Given the description of an element on the screen output the (x, y) to click on. 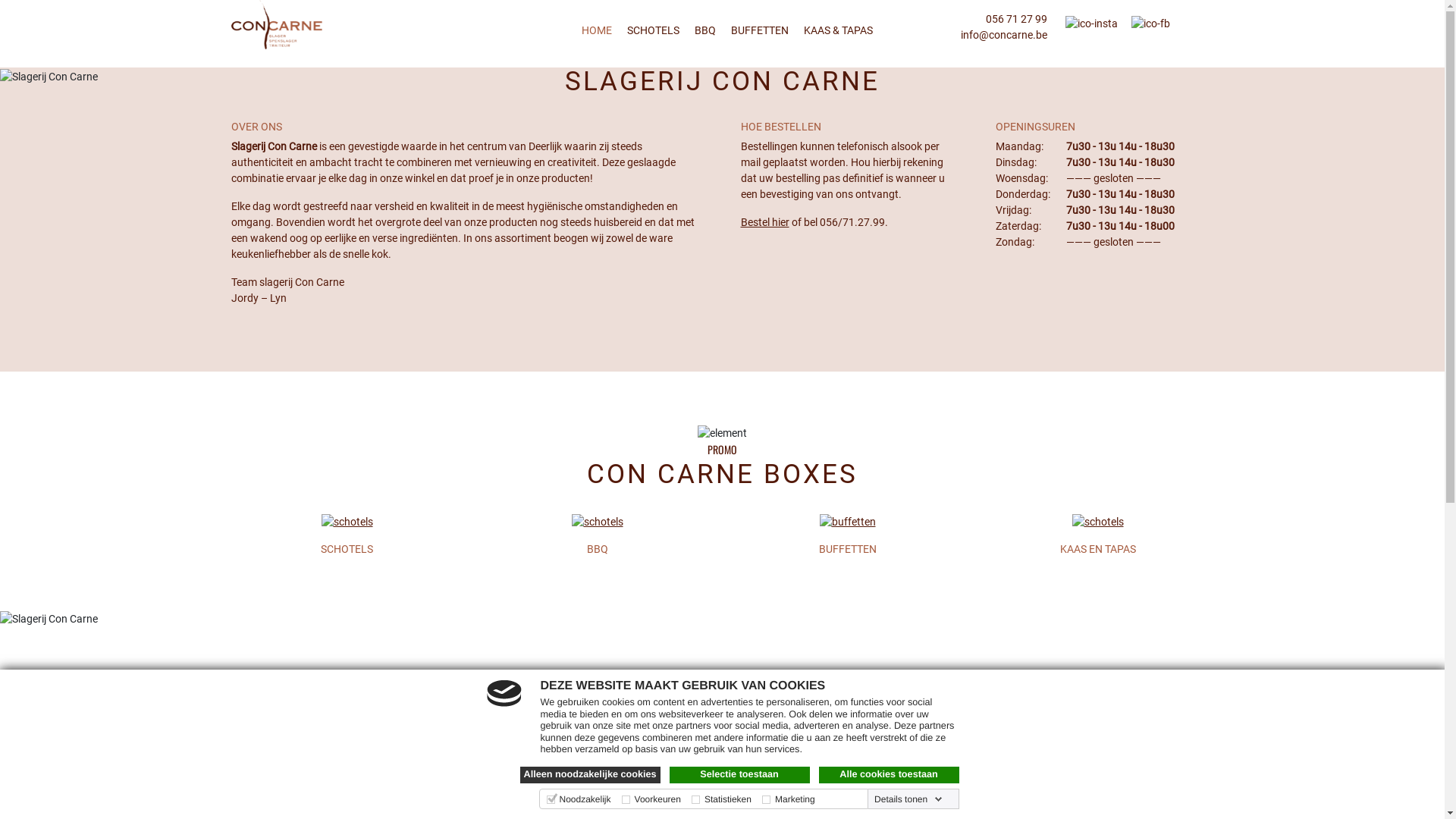
KAAS & TAPAS Element type: text (838, 30)
BUFFETTEN Element type: text (759, 30)
BBQ Element type: text (596, 549)
HOME Element type: text (595, 30)
BBQ Element type: text (705, 30)
info@concarne.be Element type: text (1003, 34)
SCHOTELS Element type: text (652, 30)
Selectie toestaan Element type: text (738, 774)
Details tonen Element type: text (908, 799)
KAAS EN TAPAS Element type: text (1097, 549)
Alle cookies toestaan Element type: text (889, 774)
Alleen noodzakelijke cookies Element type: text (590, 774)
Bestel hier Element type: text (764, 222)
056 71 27 99 Element type: text (1016, 18)
BUFFETTEN Element type: text (847, 549)
SCHOTELS Element type: text (346, 549)
